Given the description of an element on the screen output the (x, y) to click on. 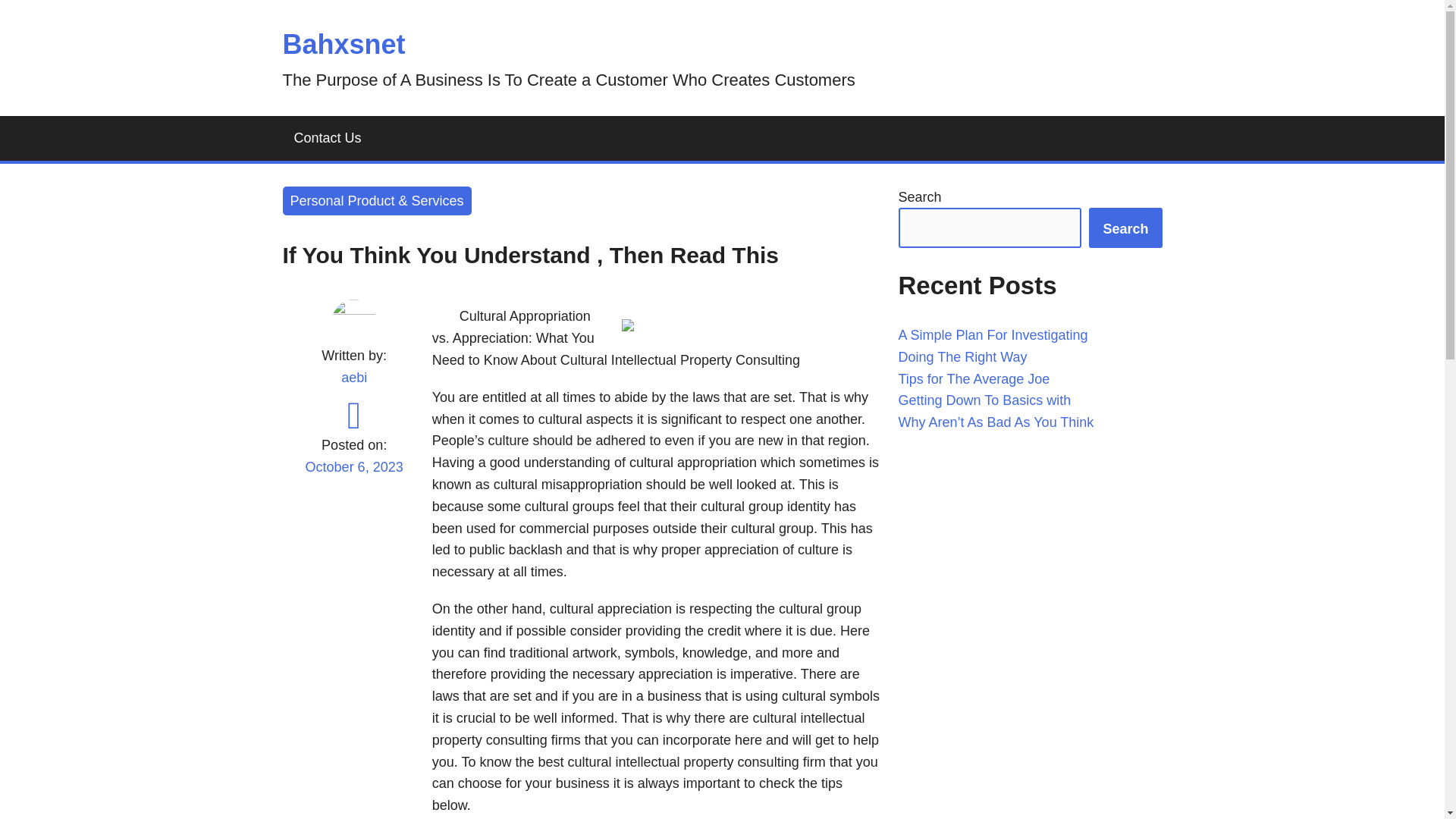
Bahxsnet (343, 43)
Search (1125, 228)
October 6, 2023 (353, 476)
Contact Us (327, 138)
aebi (353, 377)
Getting Down To Basics with (984, 400)
Doing The Right Way (962, 356)
A Simple Plan For Investigating (992, 335)
Tips for The Average Joe (973, 378)
